Given the description of an element on the screen output the (x, y) to click on. 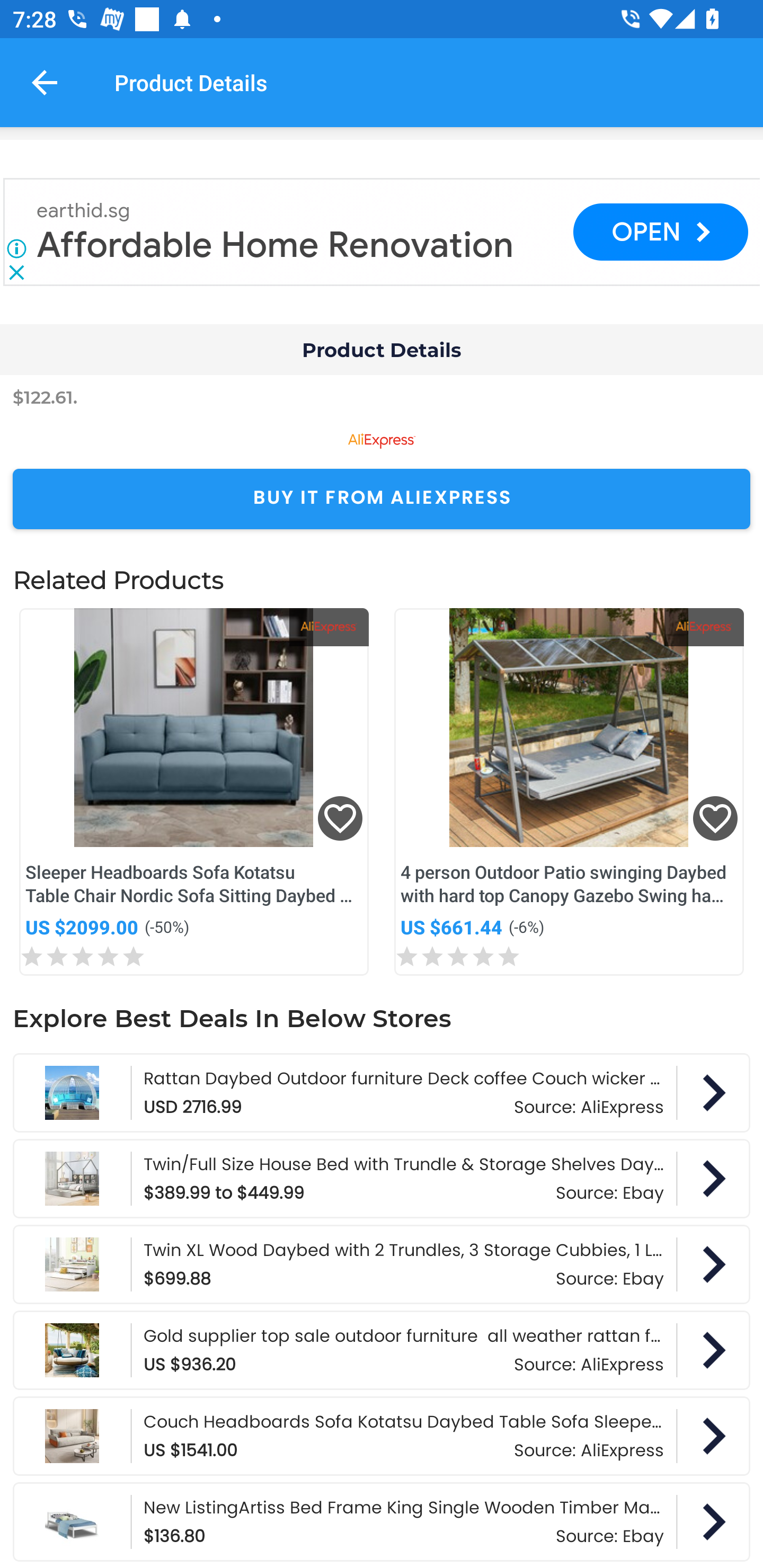
Navigate up (44, 82)
earthid.sg (83, 210)
OPEN (660, 231)
Affordable Home Renovation (275, 244)
BUY IT FROM ALIEXPRESS (381, 499)
